Given the description of an element on the screen output the (x, y) to click on. 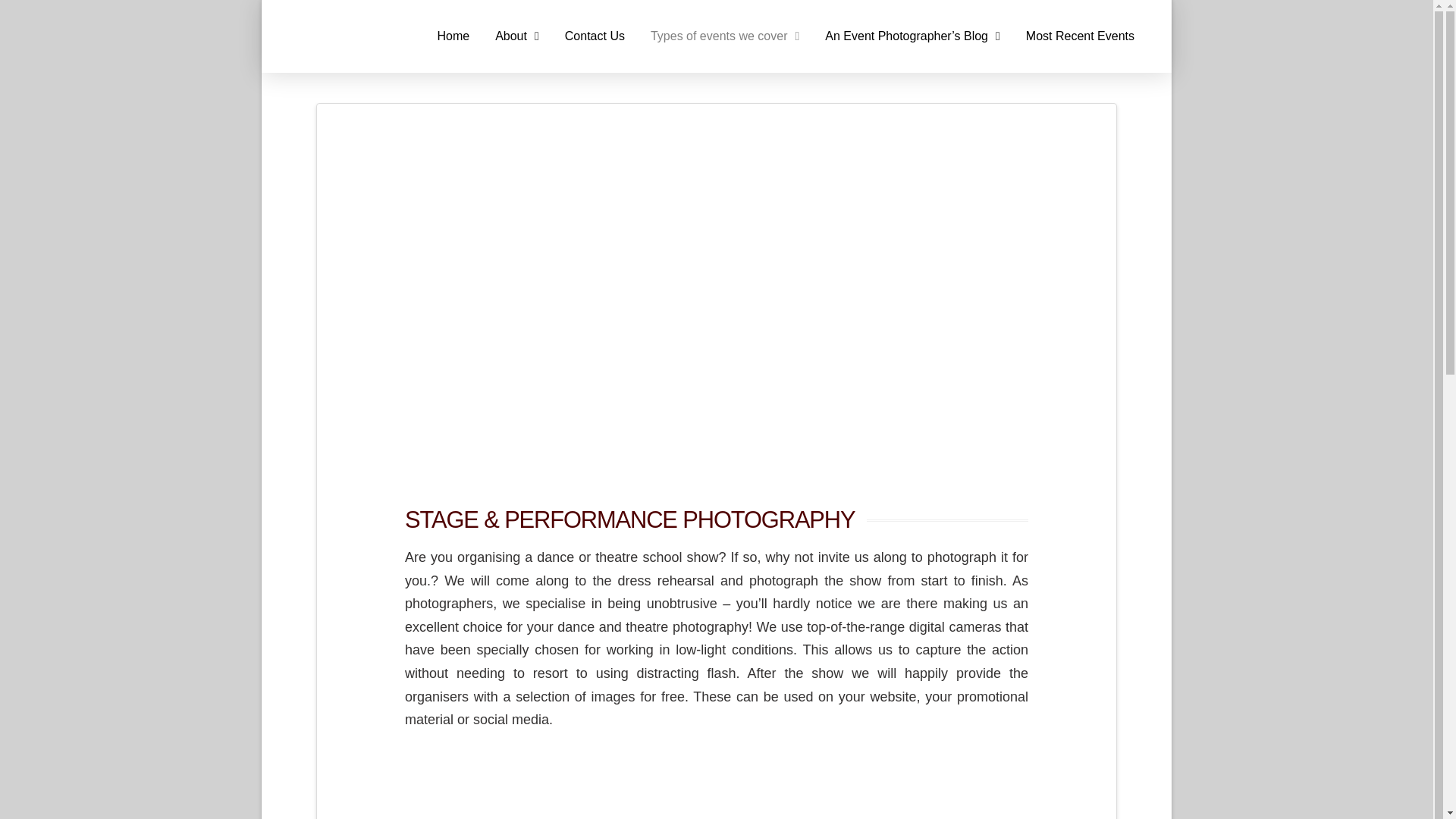
Most Recent Events (1080, 36)
Types of events we cover (724, 36)
Contact Us (594, 36)
Random thoughts (912, 36)
About (516, 36)
